Given the description of an element on the screen output the (x, y) to click on. 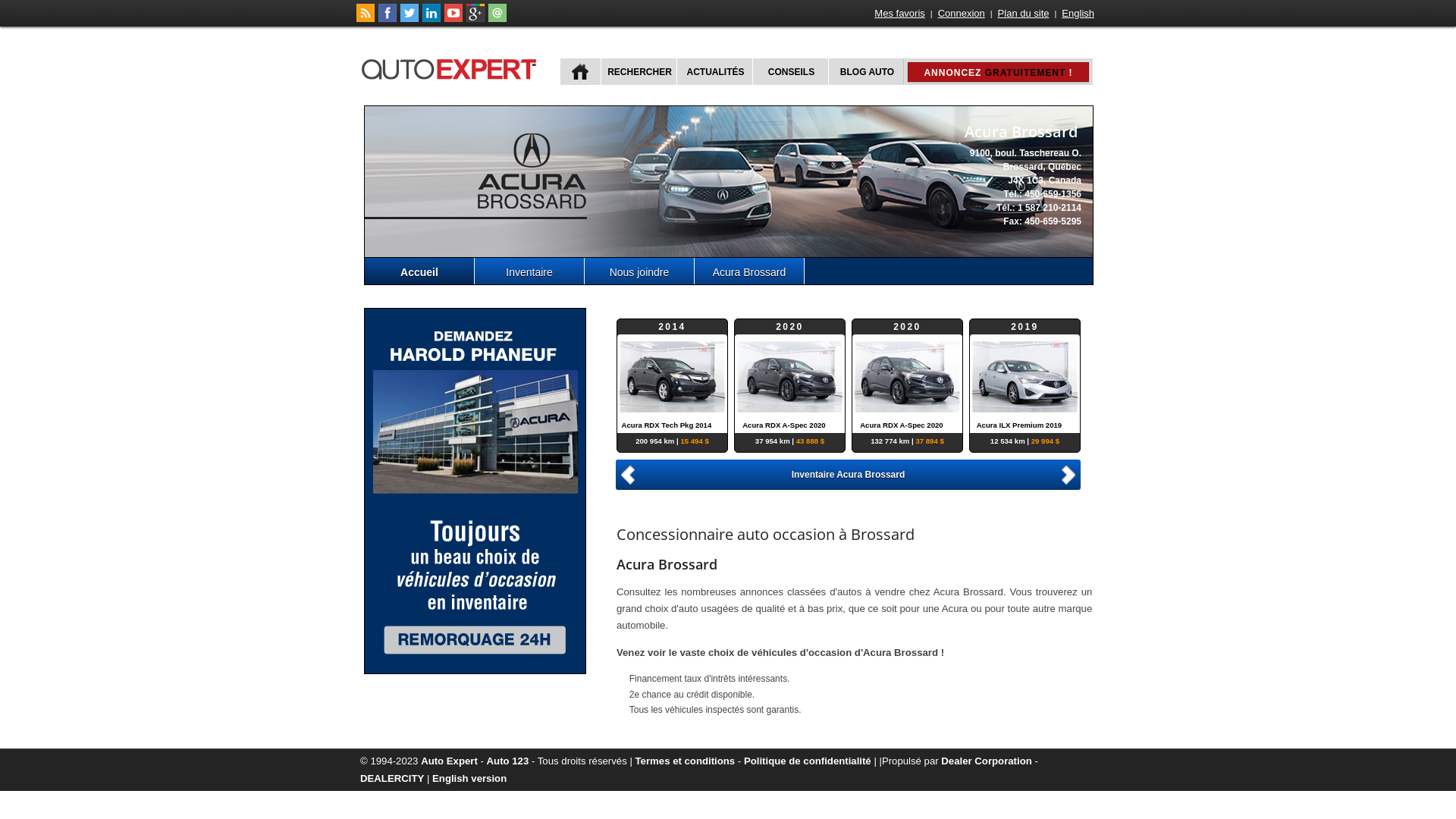
CONSEILS Element type: text (789, 71)
Suivez autoExpert.ca sur Facebook Element type: hover (387, 18)
Joindre autoExpert.ca Element type: hover (497, 18)
Auto 123 Element type: text (507, 760)
Nous joindre Element type: text (639, 270)
English version Element type: text (469, 778)
Accueil Element type: text (419, 270)
Mes favoris Element type: text (898, 13)
Dealer Corporation Element type: text (986, 760)
autoExpert.ca Element type: text (451, 66)
Suivez autoExpert.ca sur Google Plus Element type: hover (475, 18)
Suivez autoExpert.ca sur Twitter Element type: hover (409, 18)
Suivez autoExpert.ca sur Youtube Element type: hover (453, 18)
RECHERCHER Element type: text (637, 71)
Suivant Element type: hover (1070, 473)
ANNONCEZ GRATUITEMENT ! Element type: text (997, 71)
Suivez Publications Le Guide Inc. sur LinkedIn Element type: hover (431, 18)
ACCUEIL Element type: text (580, 71)
2014
Acura RDX Tech Pkg 2014
200 954 km | 15 494 $ Element type: text (674, 376)
English Element type: text (1077, 13)
Inventaire Element type: text (529, 270)
DEALERCITY Element type: text (391, 778)
Connexion Element type: text (961, 13)
2019
Acura ILX Premium 2019
12 534 km | 29 994 $ Element type: text (1024, 376)
BLOG AUTO Element type: text (865, 71)
2020
Acura RDX A-Spec 2020
37 954 km | 43 888 $ Element type: text (789, 376)
2020
Acura RDX A-Spec 2020
132 774 km | 37 894 $ Element type: text (907, 376)
Termes et conditions Element type: text (685, 760)
Acura Brossard Element type: text (749, 270)
Plan du site Element type: text (1023, 13)
Auto Expert Element type: text (448, 760)
